Given the description of an element on the screen output the (x, y) to click on. 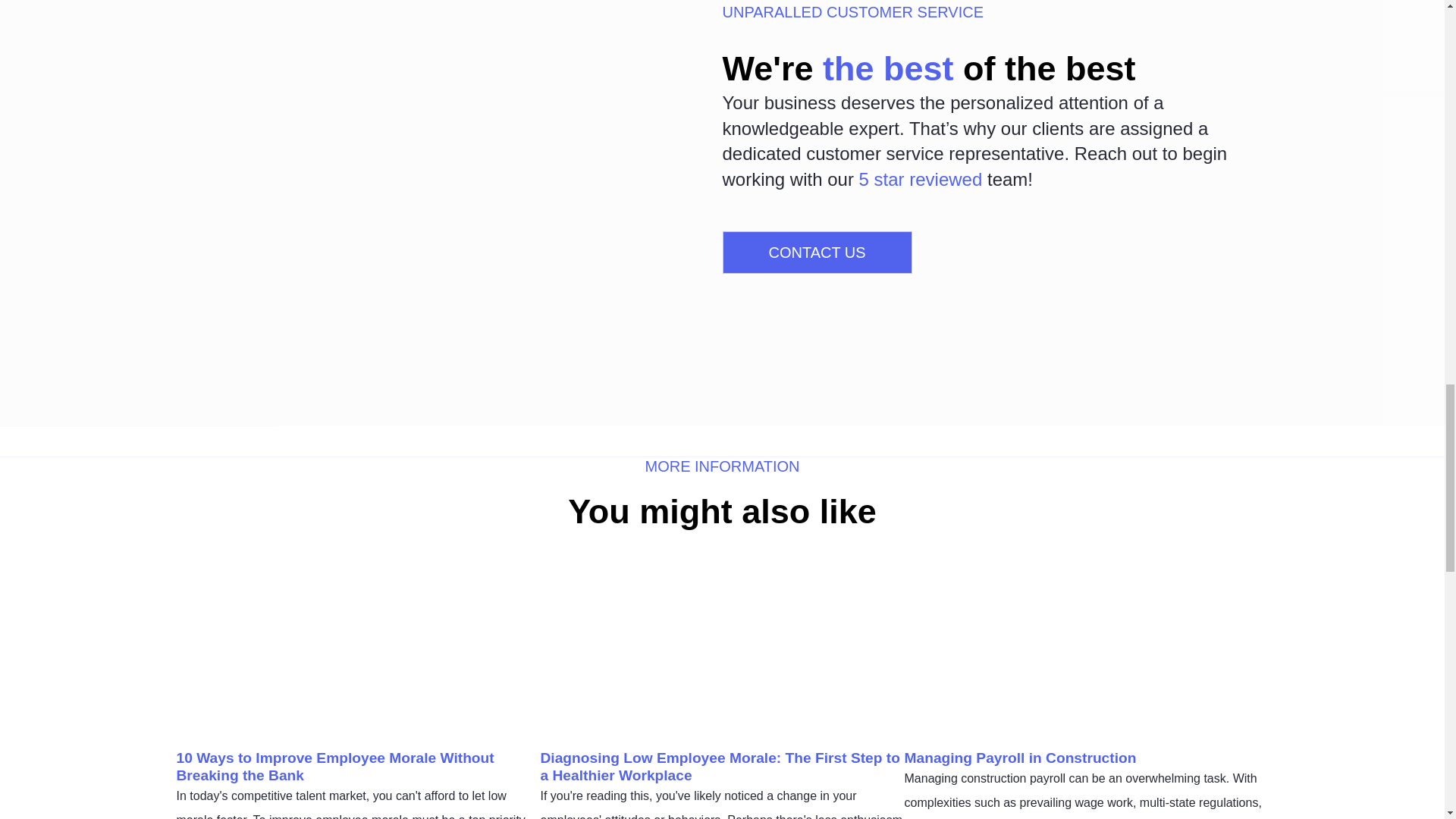
10 Ways to Improve Employee Morale Without Breaking the Bank (334, 766)
Managing Payroll in Construction (1019, 757)
